Given the description of an element on the screen output the (x, y) to click on. 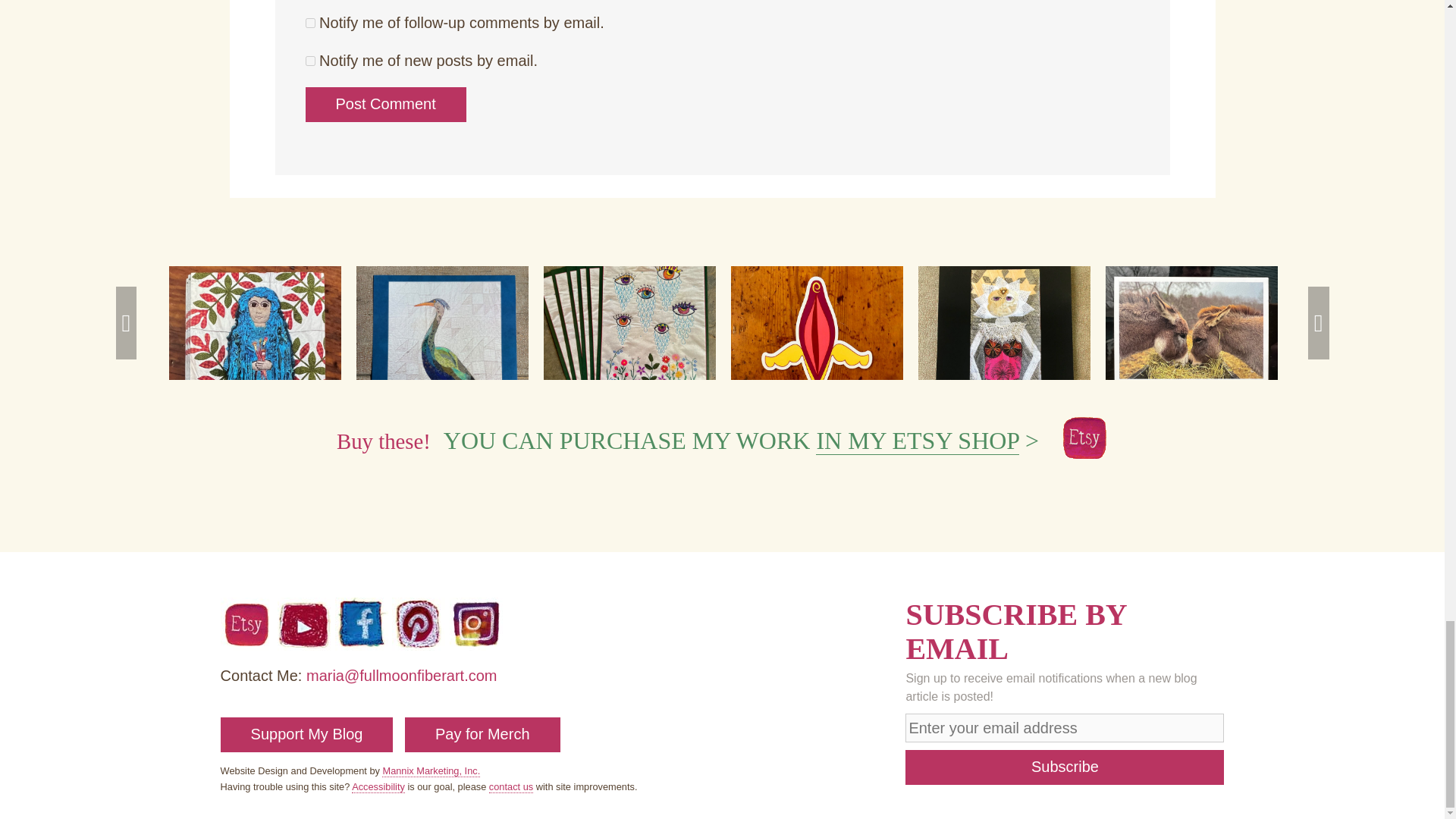
Etsy (247, 645)
Subscribe (1064, 767)
Mannix Marketing, Inc. (430, 770)
subscribe (309, 22)
YouTube (304, 645)
Facebook (361, 645)
contact us (510, 787)
Post Comment (384, 104)
Pinterest (418, 645)
subscribe (309, 61)
Accessibility (378, 787)
Pay for Merch (481, 734)
Support My Blog (307, 734)
Post Comment (384, 104)
Instagram (475, 645)
